Given the description of an element on the screen output the (x, y) to click on. 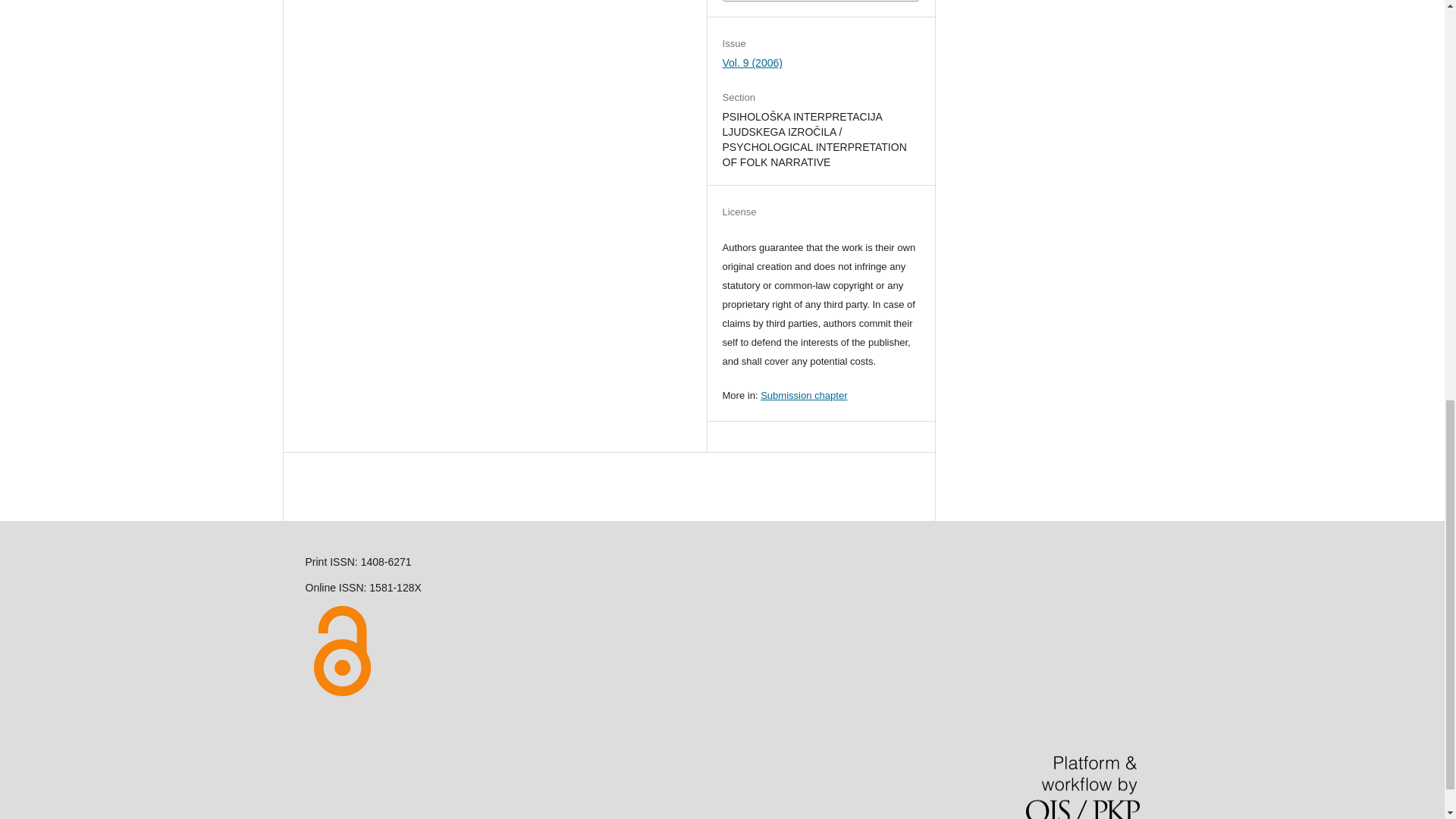
Submission chapter (803, 395)
